Given the description of an element on the screen output the (x, y) to click on. 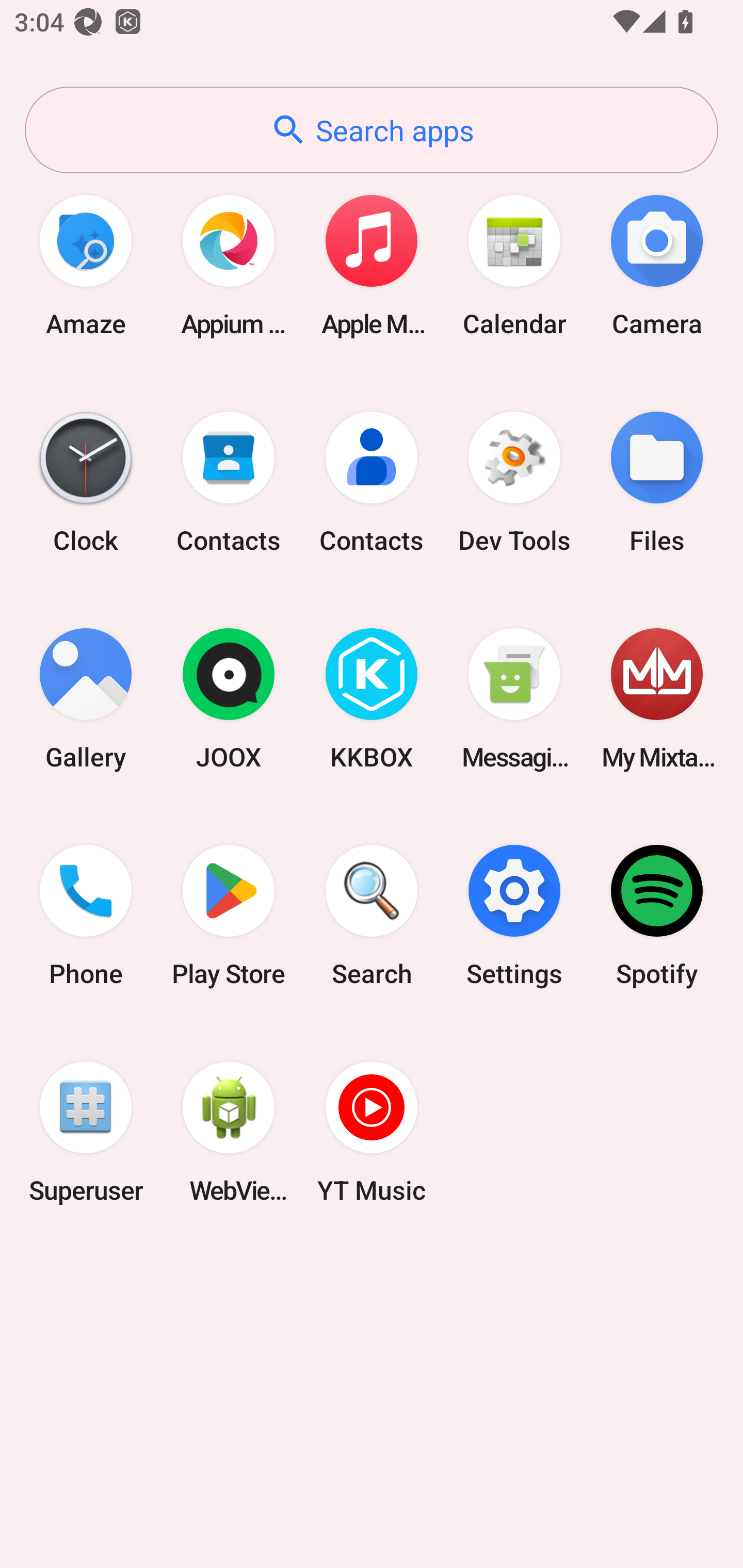
  Search apps (371, 130)
Amaze (85, 264)
Appium Settings (228, 264)
Apple Music (371, 264)
Calendar (514, 264)
Camera (656, 264)
Clock (85, 482)
Contacts (228, 482)
Contacts (371, 482)
Dev Tools (514, 482)
Files (656, 482)
Gallery (85, 699)
JOOX (228, 699)
KKBOX (371, 699)
Messaging (514, 699)
My Mixtapez (656, 699)
Phone (85, 915)
Play Store (228, 915)
Search (371, 915)
Settings (514, 915)
Spotify (656, 915)
Superuser (85, 1131)
WebView Browser Tester (228, 1131)
YT Music (371, 1131)
